Given the description of an element on the screen output the (x, y) to click on. 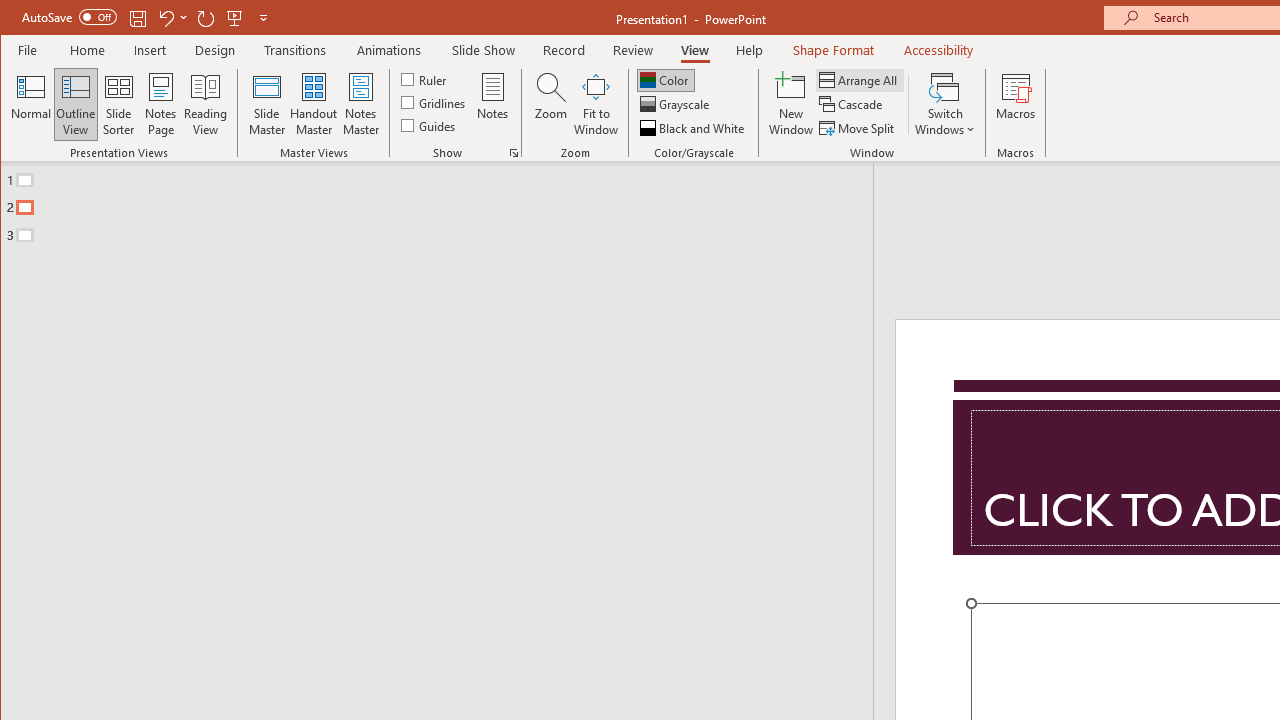
Zoom... (550, 104)
Fit to Window (596, 104)
